Given the description of an element on the screen output the (x, y) to click on. 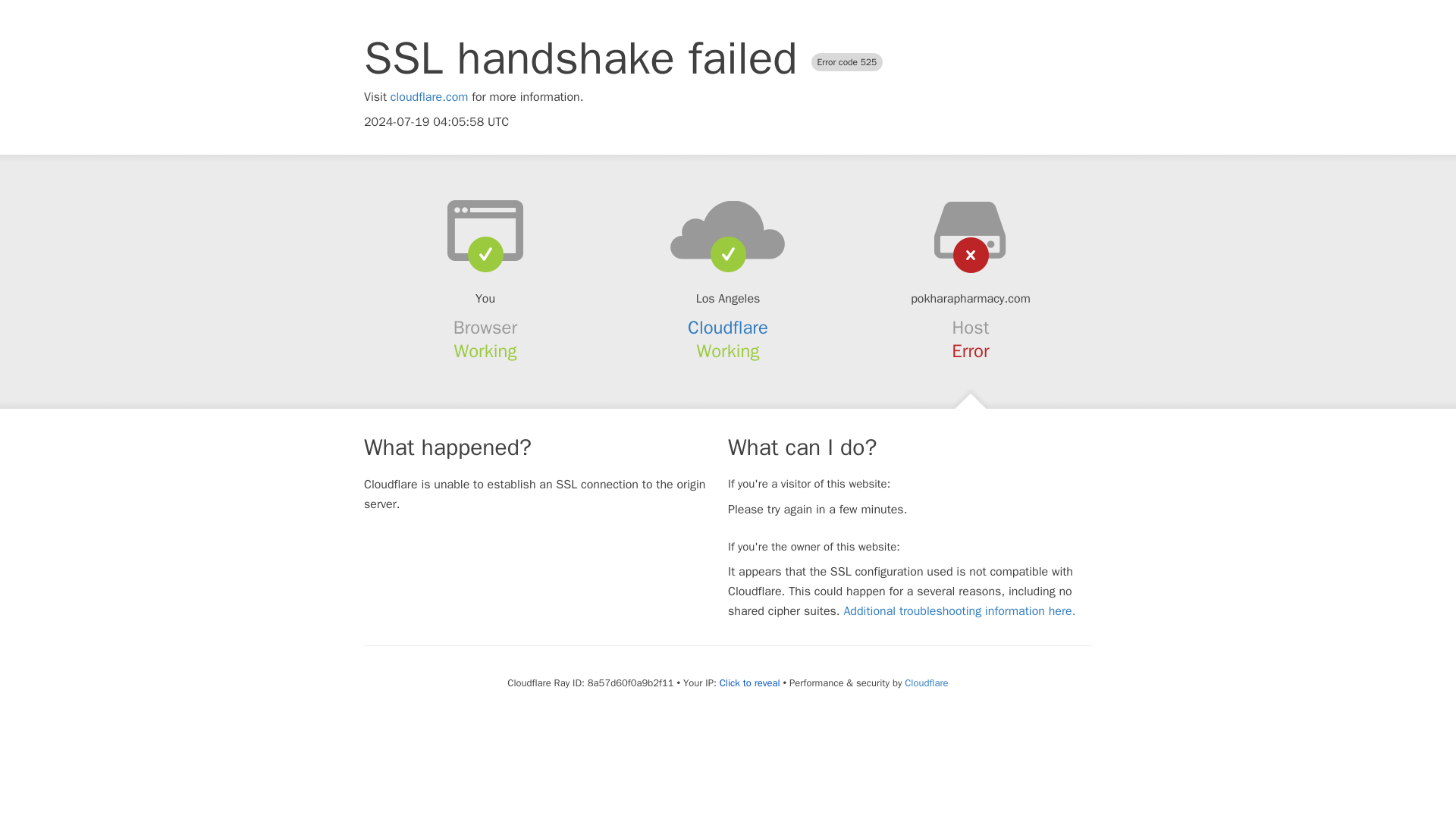
Cloudflare (727, 327)
Additional troubleshooting information here. (959, 611)
Cloudflare (925, 682)
cloudflare.com (429, 96)
Click to reveal (749, 683)
